Given the description of an element on the screen output the (x, y) to click on. 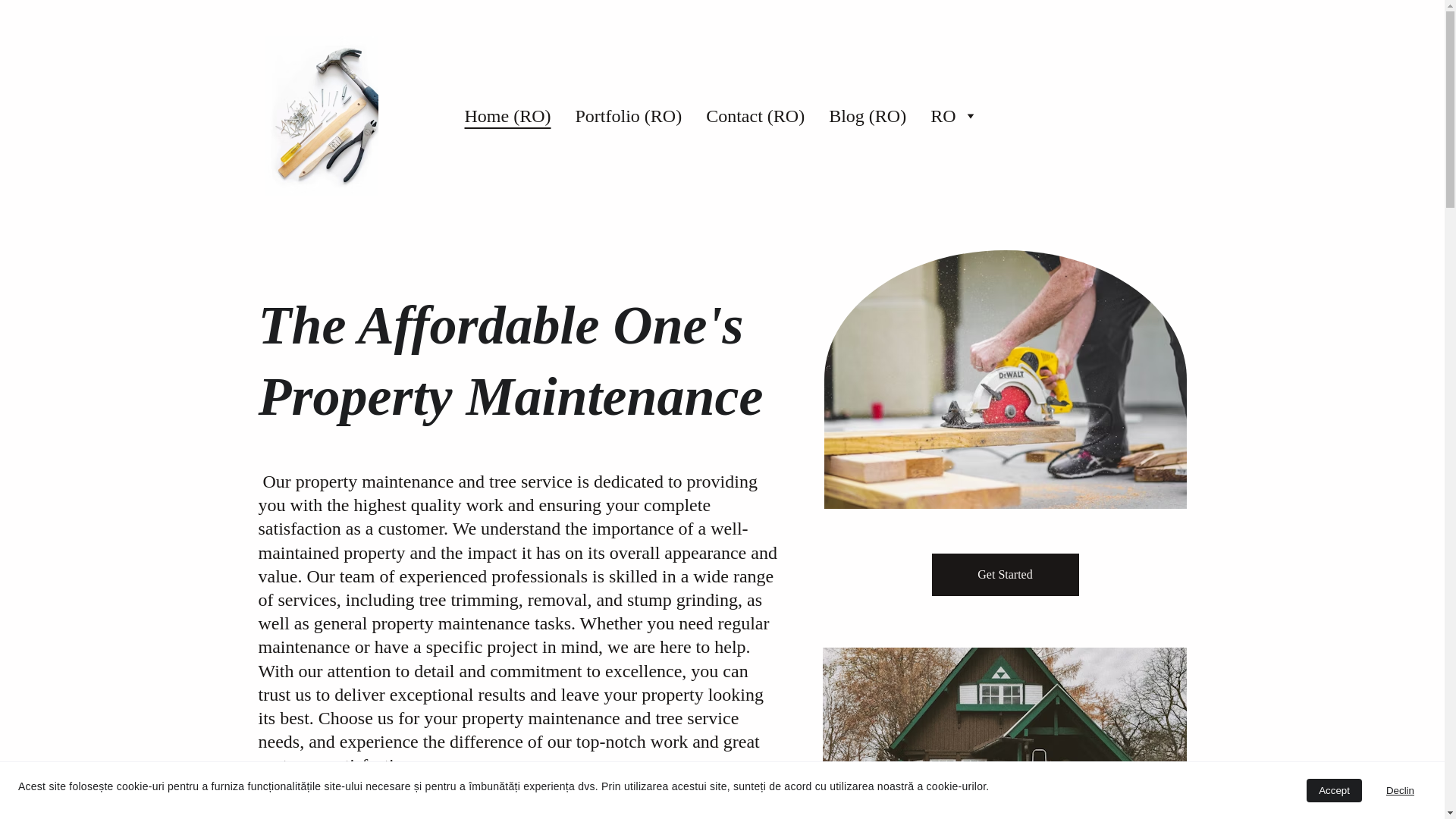
brown and green painted house (1004, 733)
